Given the description of an element on the screen output the (x, y) to click on. 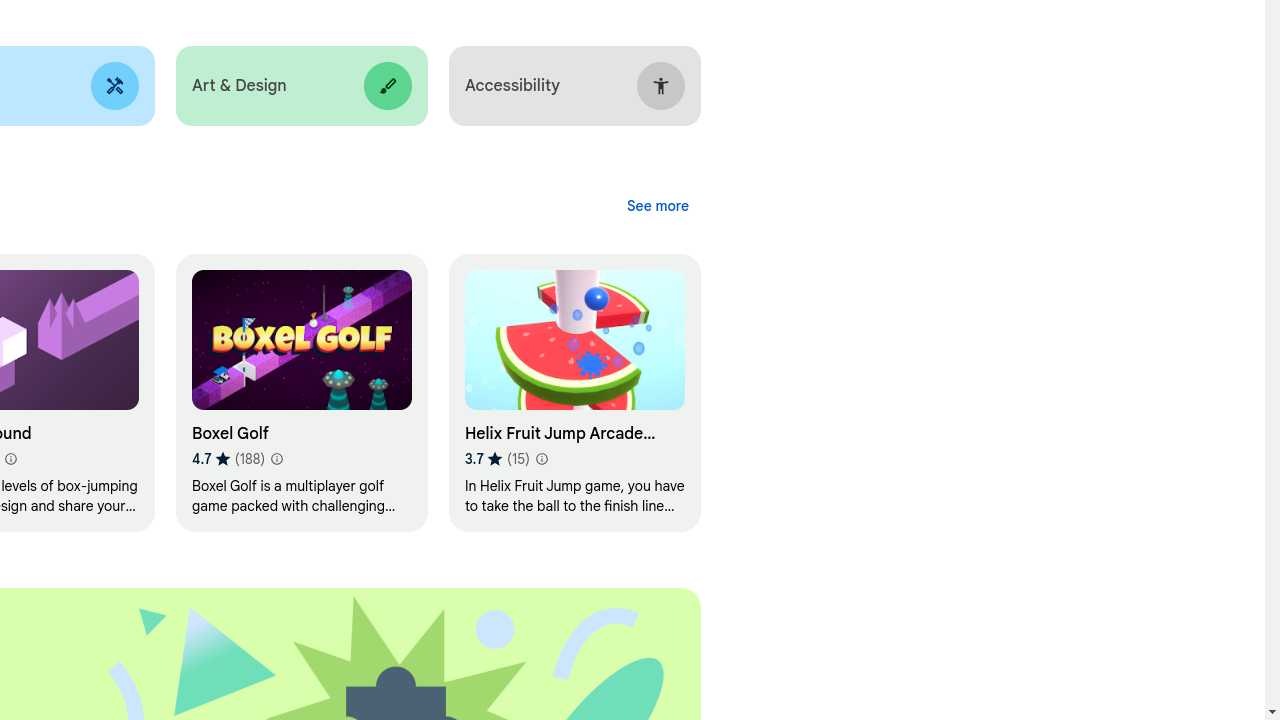
Helix Fruit Jump Arcade Game Element type: link (574, 393)
Art & Design Element type: link (301, 86)
Accessibility Element type: link (574, 86)
